Given the description of an element on the screen output the (x, y) to click on. 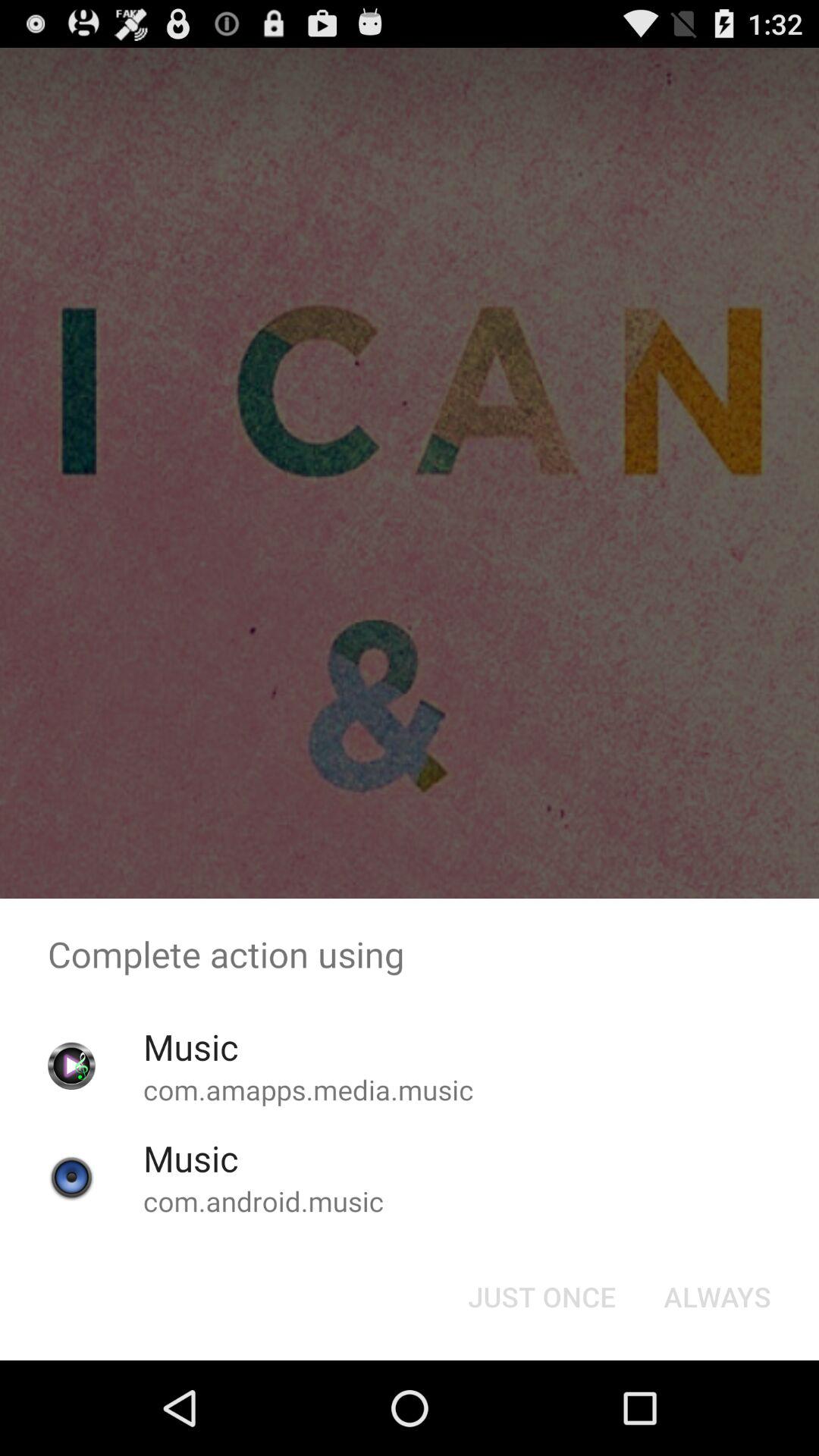
select item next to the always item (541, 1296)
